Given the description of an element on the screen output the (x, y) to click on. 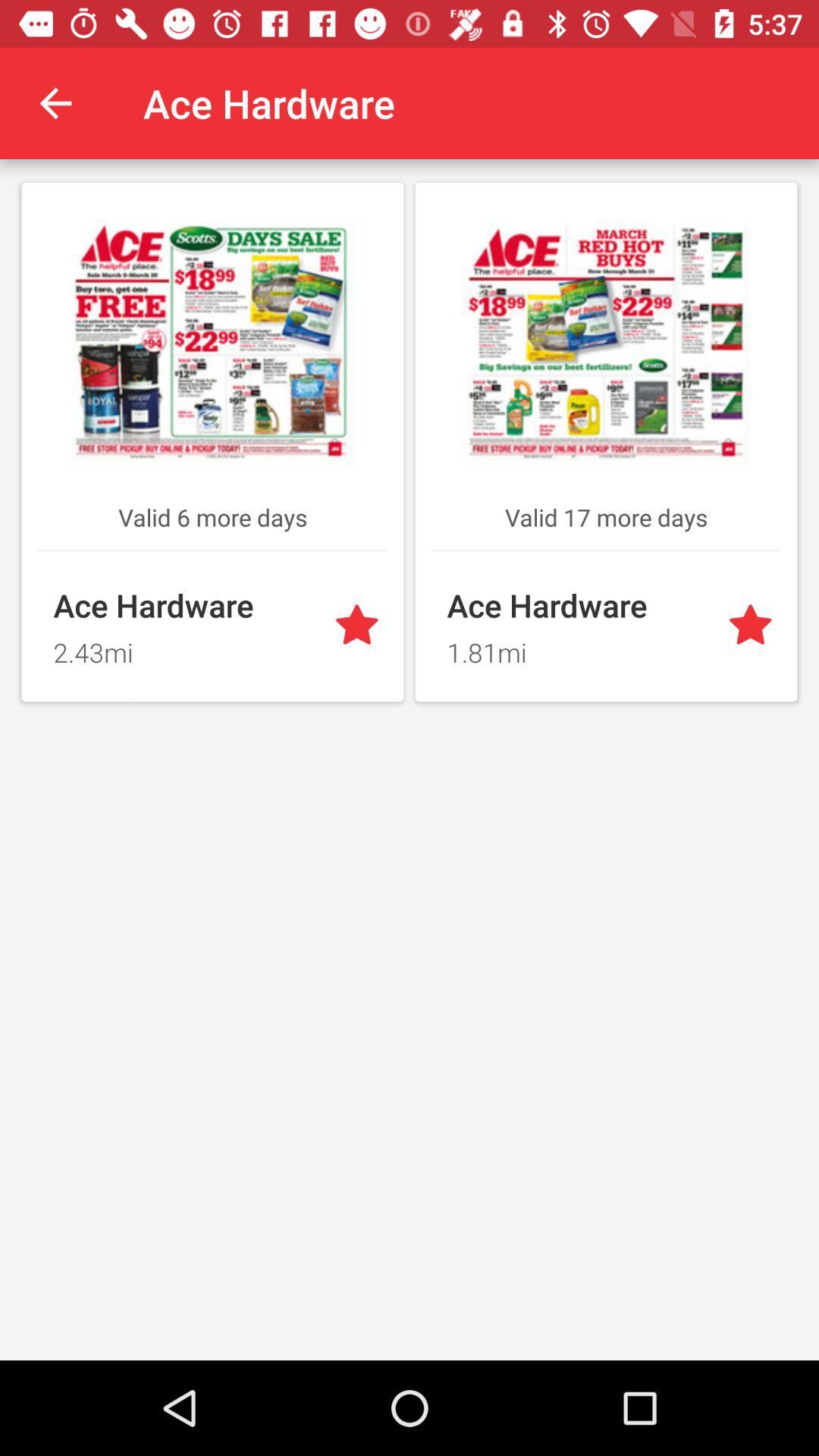
select the app to the left of the ace hardware icon (55, 103)
